Given the description of an element on the screen output the (x, y) to click on. 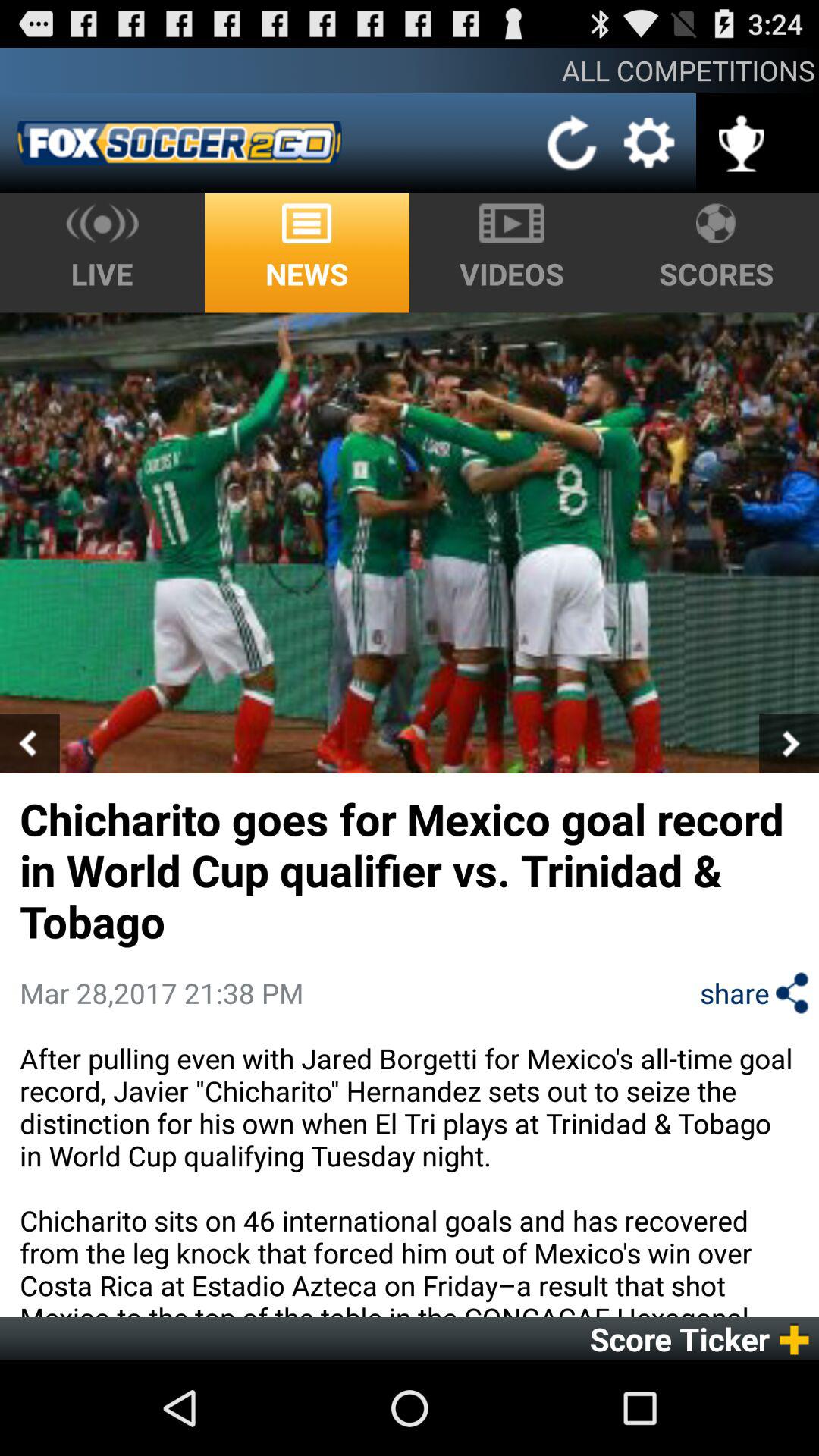
click the item below the all competitions icon (572, 143)
